Given the description of an element on the screen output the (x, y) to click on. 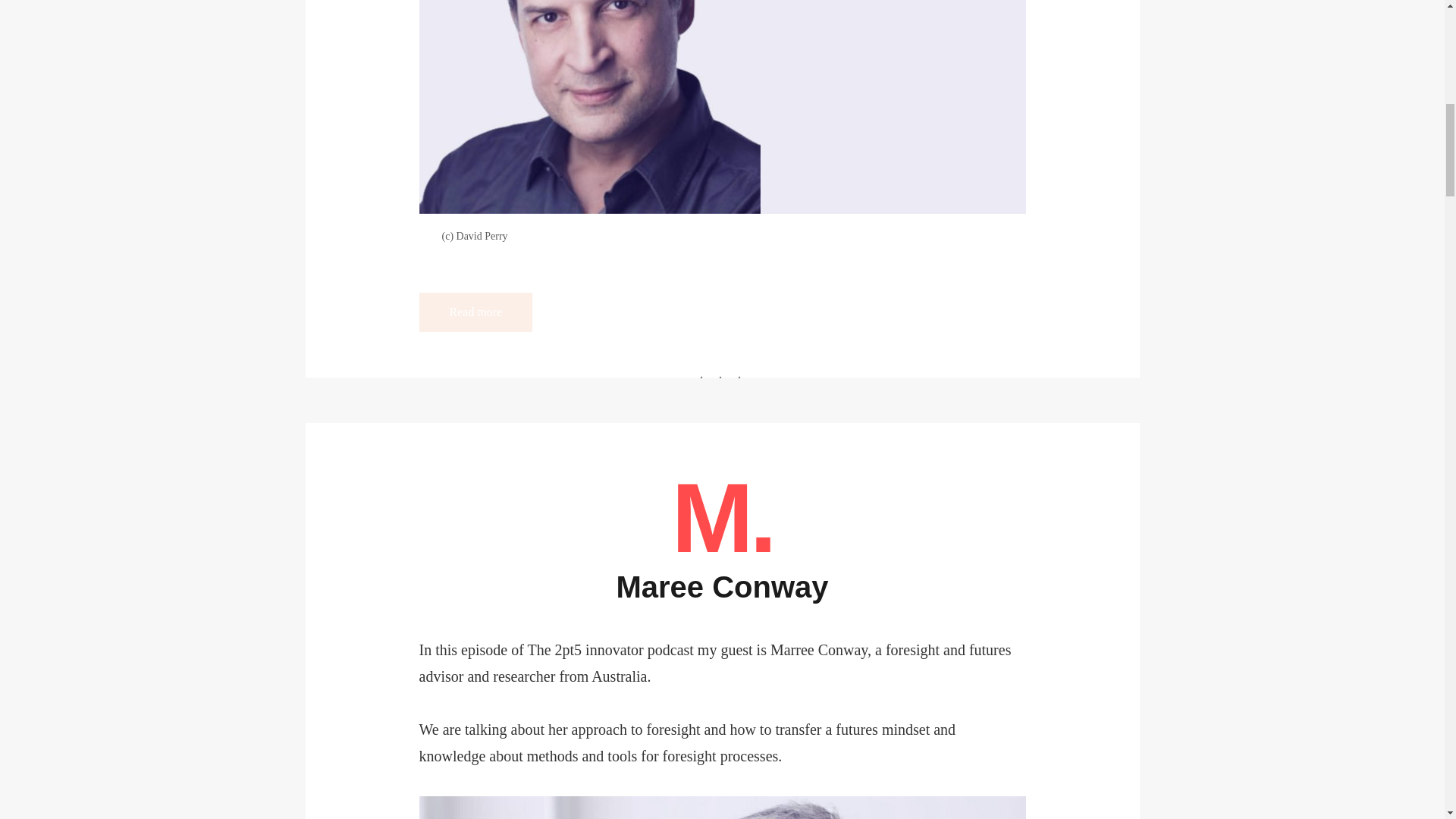
Read more (475, 312)
Maree Conway (721, 586)
